Given the description of an element on the screen output the (x, y) to click on. 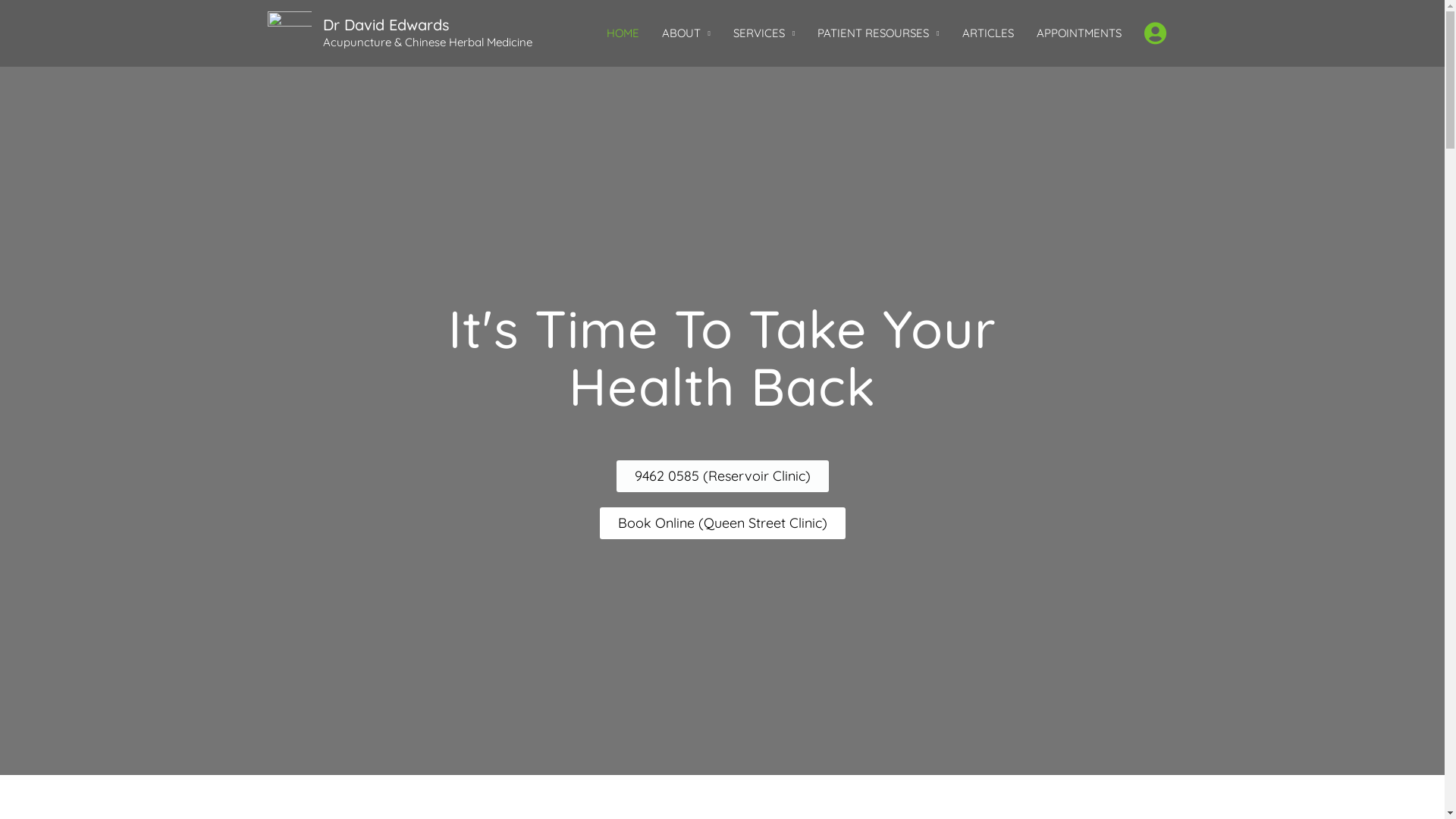
Dr David Edwards Element type: text (385, 24)
APPOINTMENTS Element type: text (1078, 33)
ABOUT Element type: text (685, 33)
HOME Element type: text (622, 33)
Book Online (Queen Street Clinic) Element type: text (721, 523)
My Account						 Element type: hover (1154, 33)
SERVICES Element type: text (763, 33)
ARTICLES Element type: text (987, 33)
9462 0585 (Reservoir Clinic) Element type: text (721, 476)
PATIENT RESOURSES Element type: text (878, 33)
